Given the description of an element on the screen output the (x, y) to click on. 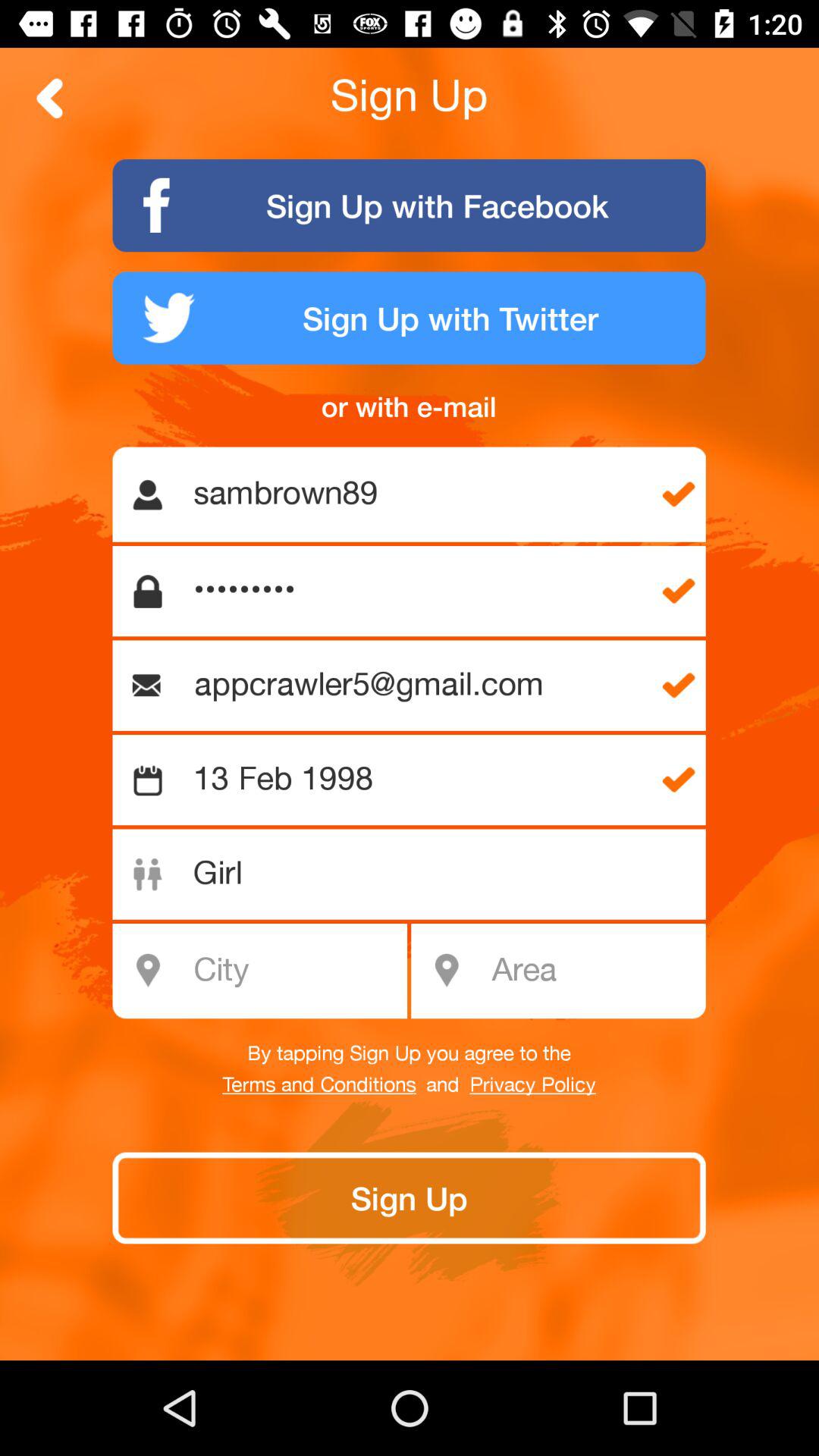
open icon at the bottom right corner (593, 970)
